Given the description of an element on the screen output the (x, y) to click on. 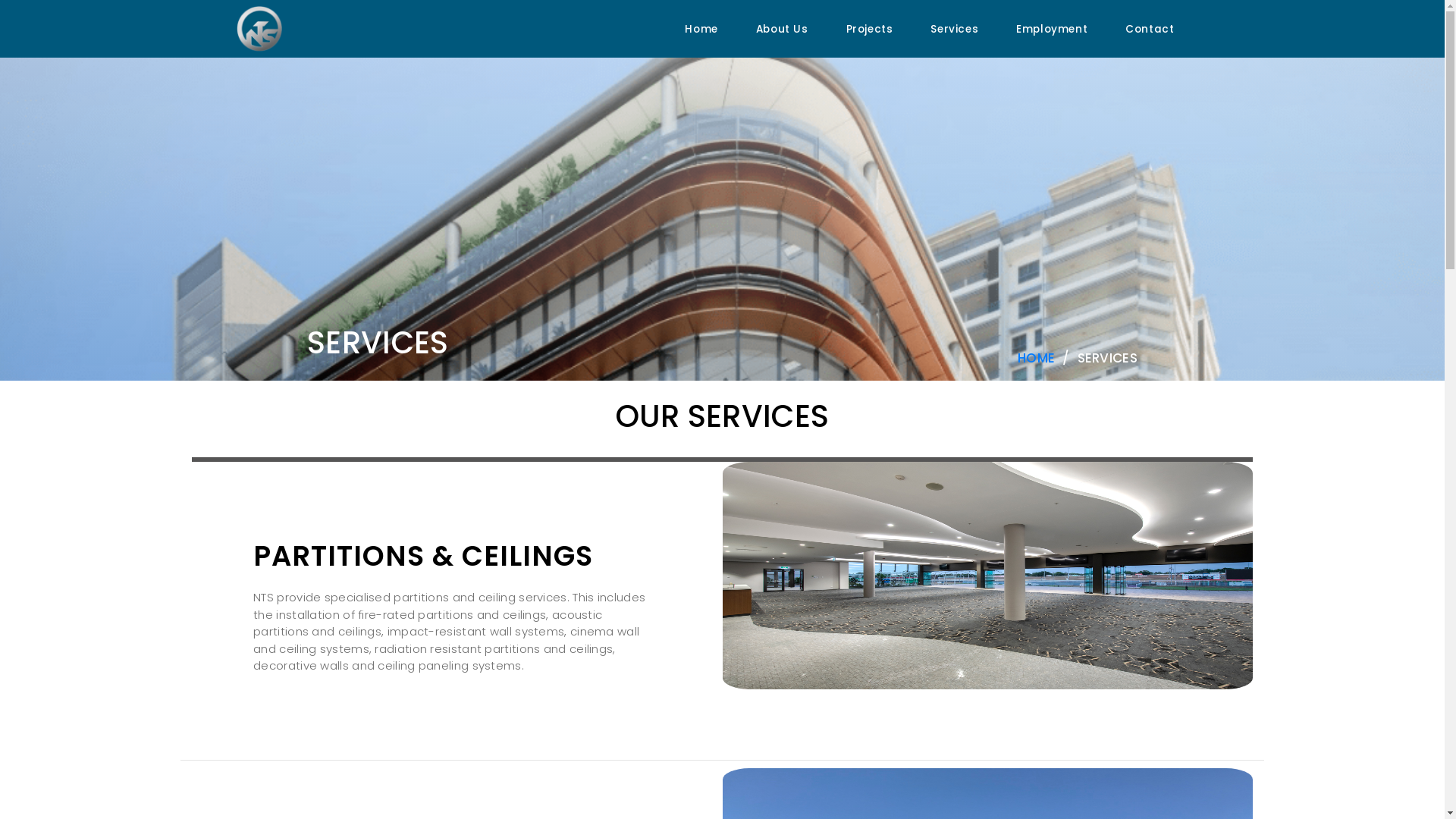
Employment Element type: text (1051, 28)
Home Element type: text (1035, 356)
Projects Element type: text (869, 28)
Services Element type: text (954, 28)
About Us Element type: text (781, 28)
Home Element type: text (700, 28)
Contact Element type: text (1149, 28)
